Given the description of an element on the screen output the (x, y) to click on. 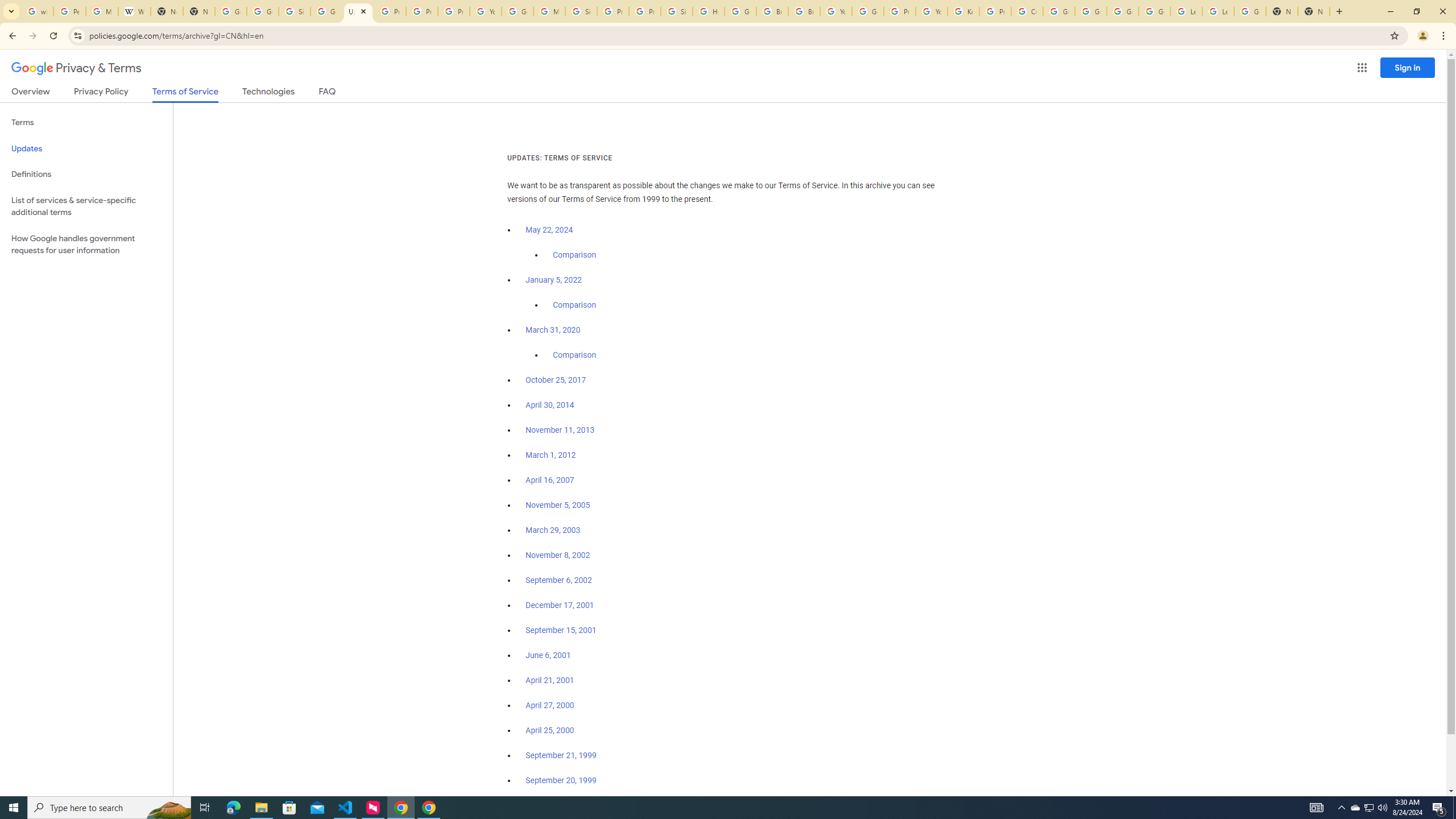
Google Account Help (1059, 11)
October 25, 2017 (555, 380)
September 20, 1999 (560, 780)
Google Account Help (1123, 11)
June 6, 2001 (547, 655)
March 1, 2012 (550, 455)
Definitions (86, 174)
